Given the description of an element on the screen output the (x, y) to click on. 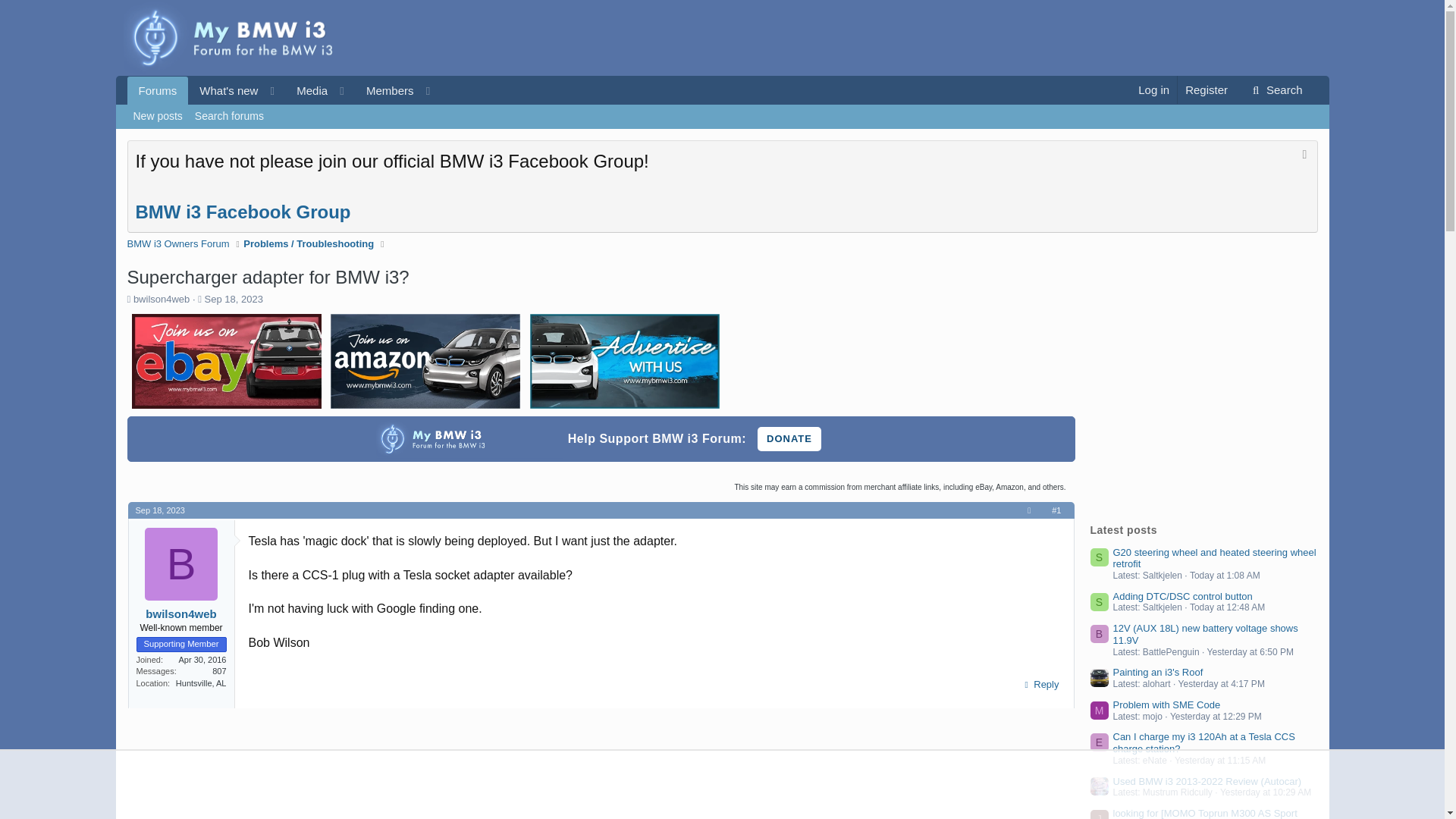
Forums (158, 90)
Log in (1153, 90)
What's new (223, 90)
PayPal - The safer, easier way to pay online! (789, 438)
Sep 18, 2023 at 2:25 AM (159, 510)
Members (288, 107)
Search forums (384, 90)
Media (229, 116)
